Given the description of an element on the screen output the (x, y) to click on. 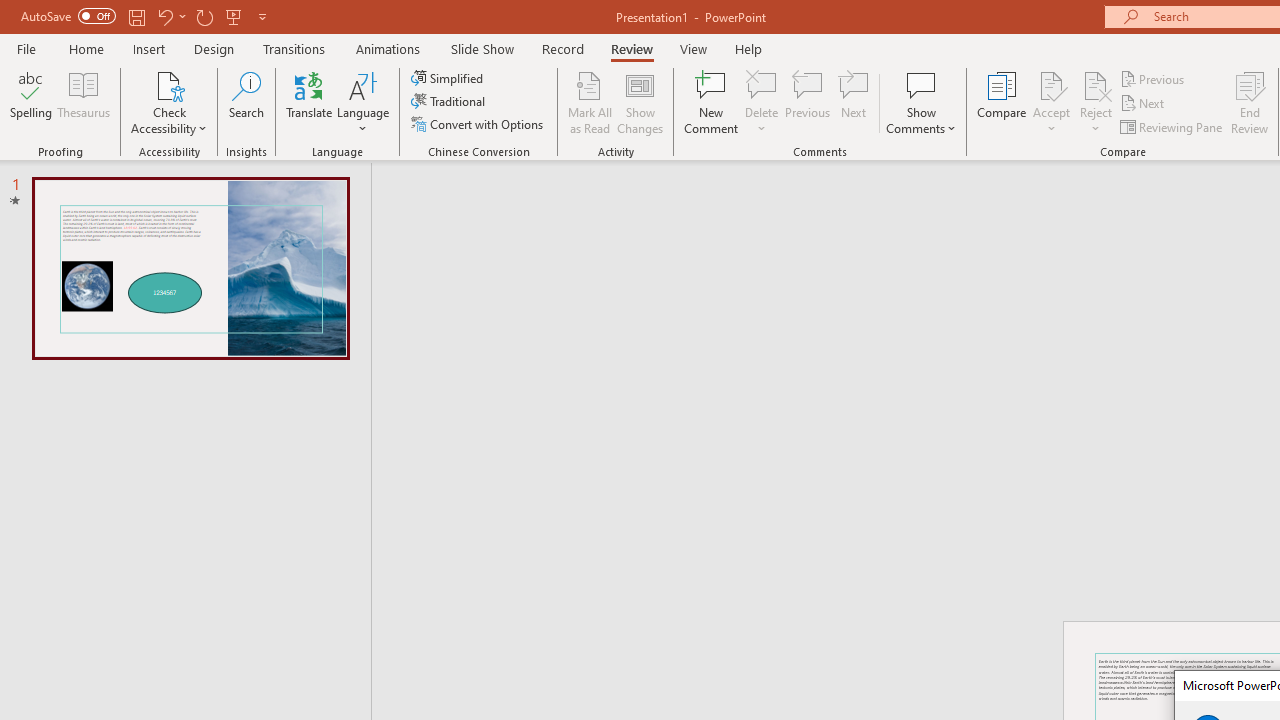
Traditional (449, 101)
Delete (762, 102)
Previous (1153, 78)
Accept (1051, 102)
Convert with Options... (479, 124)
Simplified (449, 78)
Spelling... (31, 102)
Translate (309, 102)
End Review (1249, 102)
Reject Change (1096, 84)
Check Accessibility (169, 84)
